Given the description of an element on the screen output the (x, y) to click on. 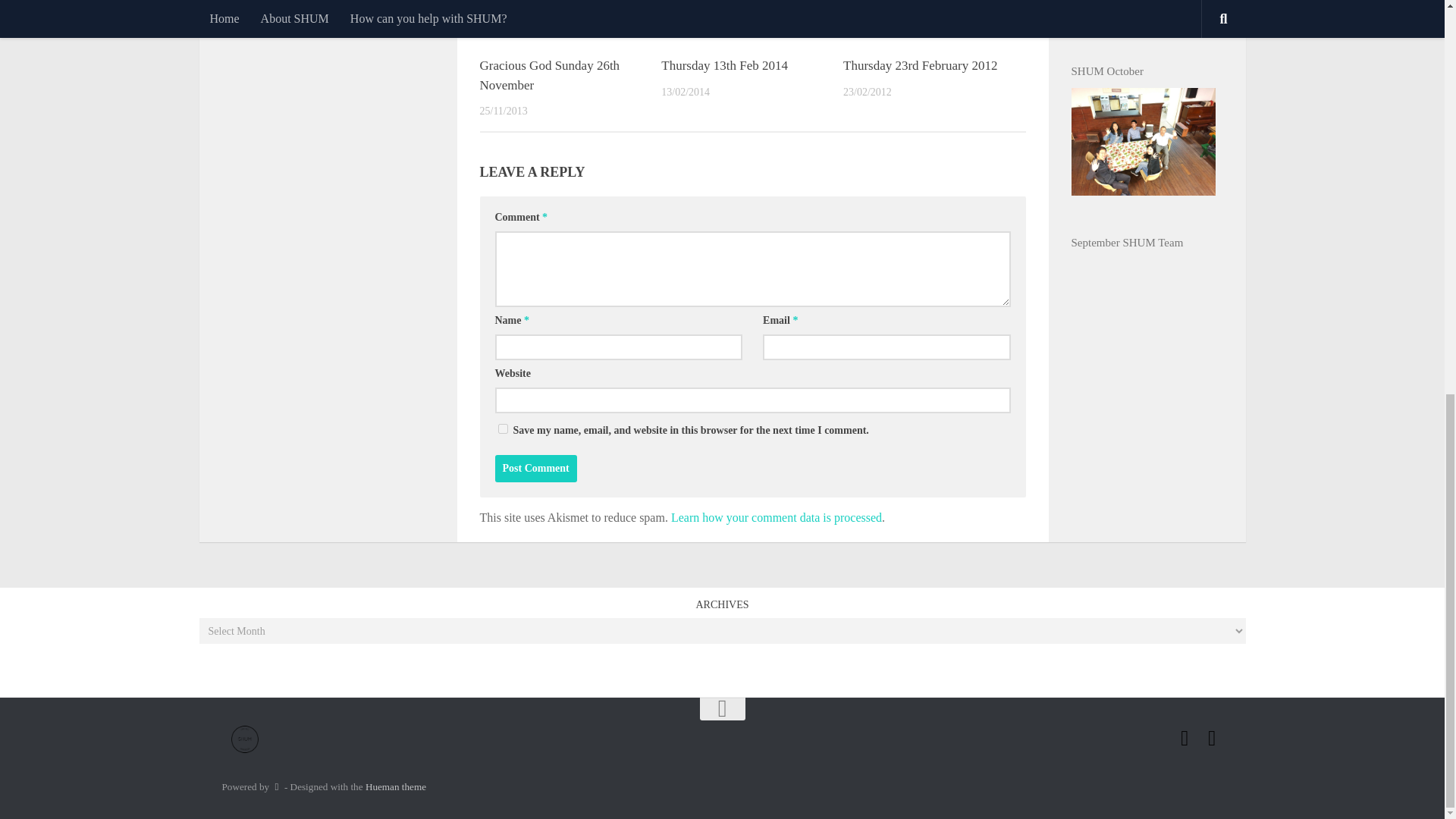
Post Comment (535, 468)
Thursday 23rd February 2012 (920, 65)
yes (501, 429)
Learn how your comment data is processed (776, 517)
Thursday 13th Feb 2014 (724, 65)
Post Comment (535, 468)
Gracious God Sunday 26th November (549, 75)
